Given the description of an element on the screen output the (x, y) to click on. 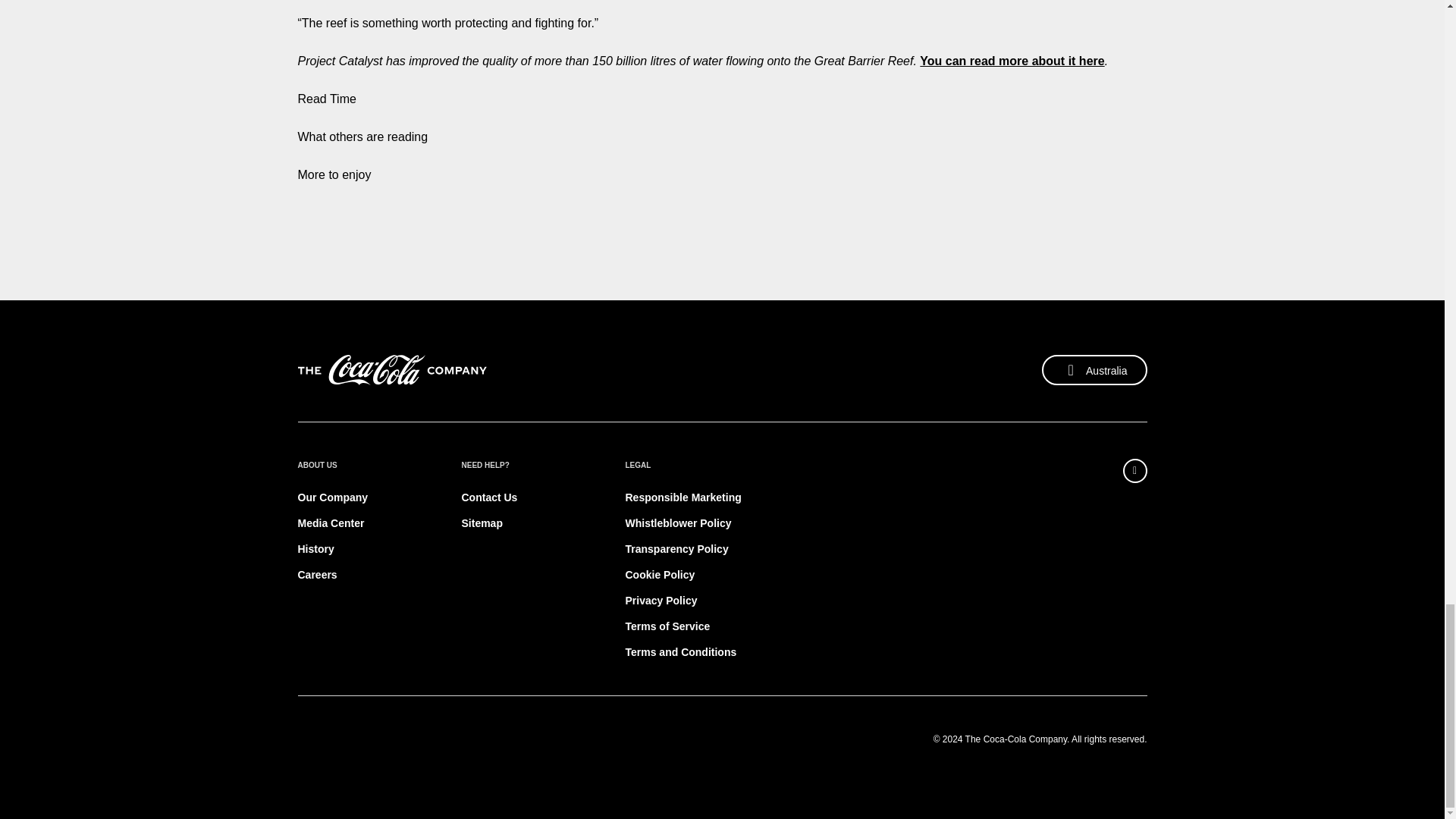
Terms and Conditions (680, 652)
Media Center (330, 522)
Privacy Policy (660, 600)
You can read more about it here (1011, 60)
Careers (316, 574)
Our Company (332, 497)
Cookie Policy (659, 574)
Sitemap (481, 522)
Transparency Policy (676, 548)
Terms of Service (667, 625)
History (315, 548)
Responsible Marketing (682, 497)
Australia (1094, 369)
Whistleblower Policy (677, 522)
Contact Us (488, 497)
